Given the description of an element on the screen output the (x, y) to click on. 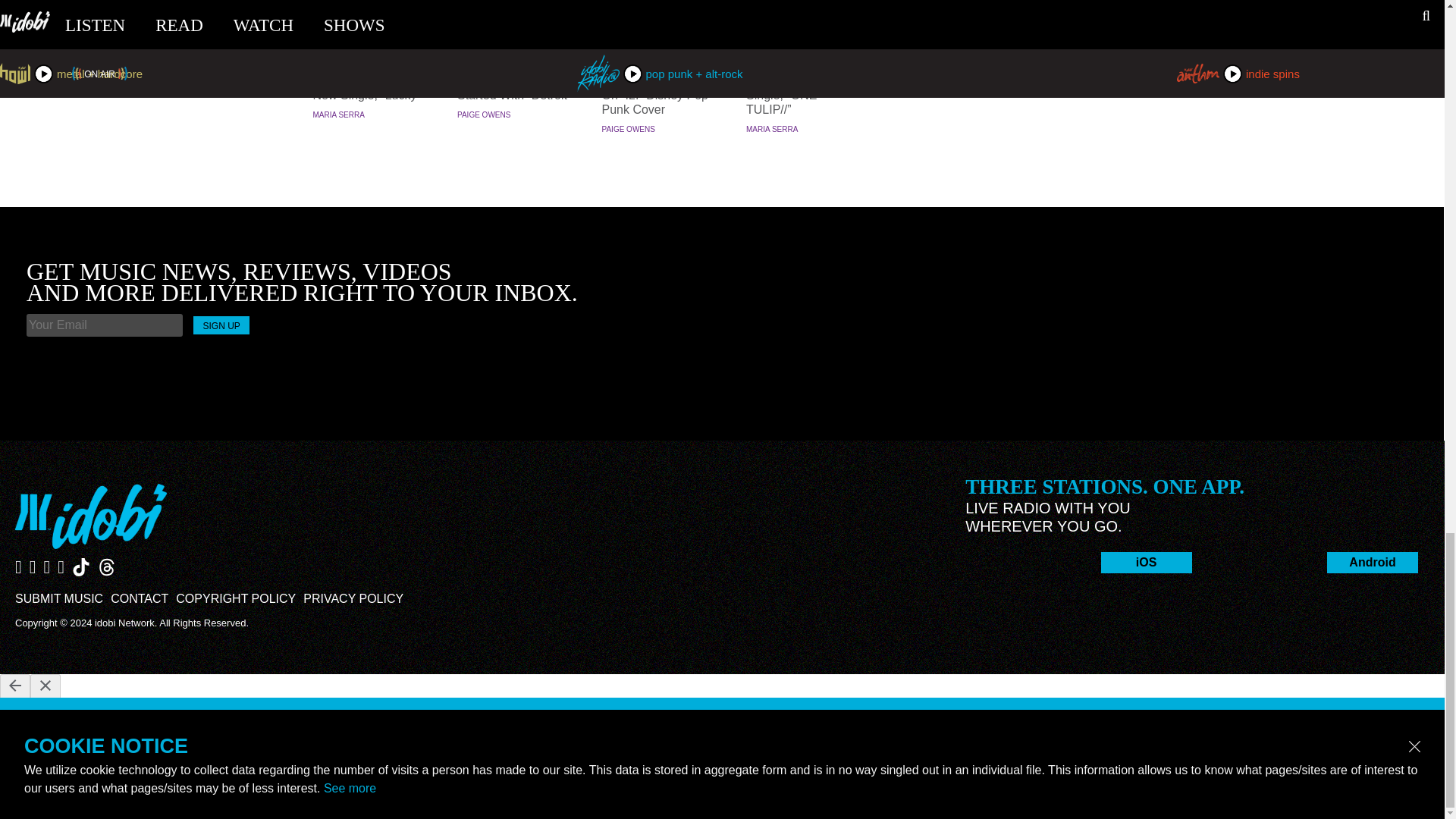
MARIA SERRA (338, 114)
NEWS (803, 50)
Paige Owens (628, 129)
Maria Serra (771, 129)
NEWS (659, 50)
Maria Serra (338, 114)
SIGN UP (220, 325)
NEWS (514, 50)
PAIGE OWENS (484, 114)
PAIGE OWENS (628, 129)
MARIA SERRA (771, 129)
Paige Owens (484, 114)
NEWS (369, 50)
